Given the description of an element on the screen output the (x, y) to click on. 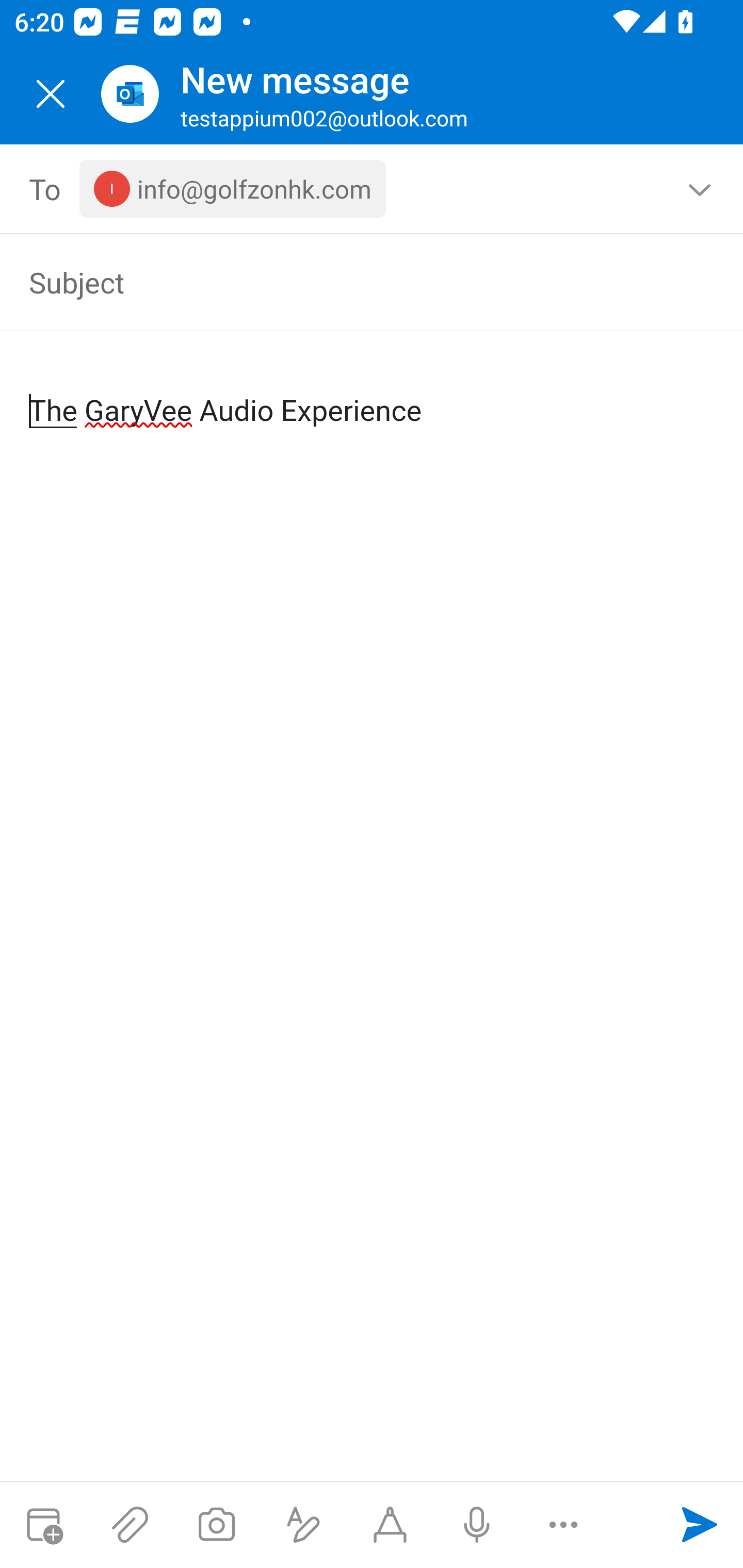
Close (50, 93)
Subject (342, 281)

The GaryVee Audio Experience (372, 394)
Attach meeting (43, 1524)
Attach files (129, 1524)
Take a photo (216, 1524)
Show formatting options (303, 1524)
Start Ink compose (389, 1524)
Dictation (476, 1524)
More options (563, 1524)
Send (699, 1524)
